Given the description of an element on the screen output the (x, y) to click on. 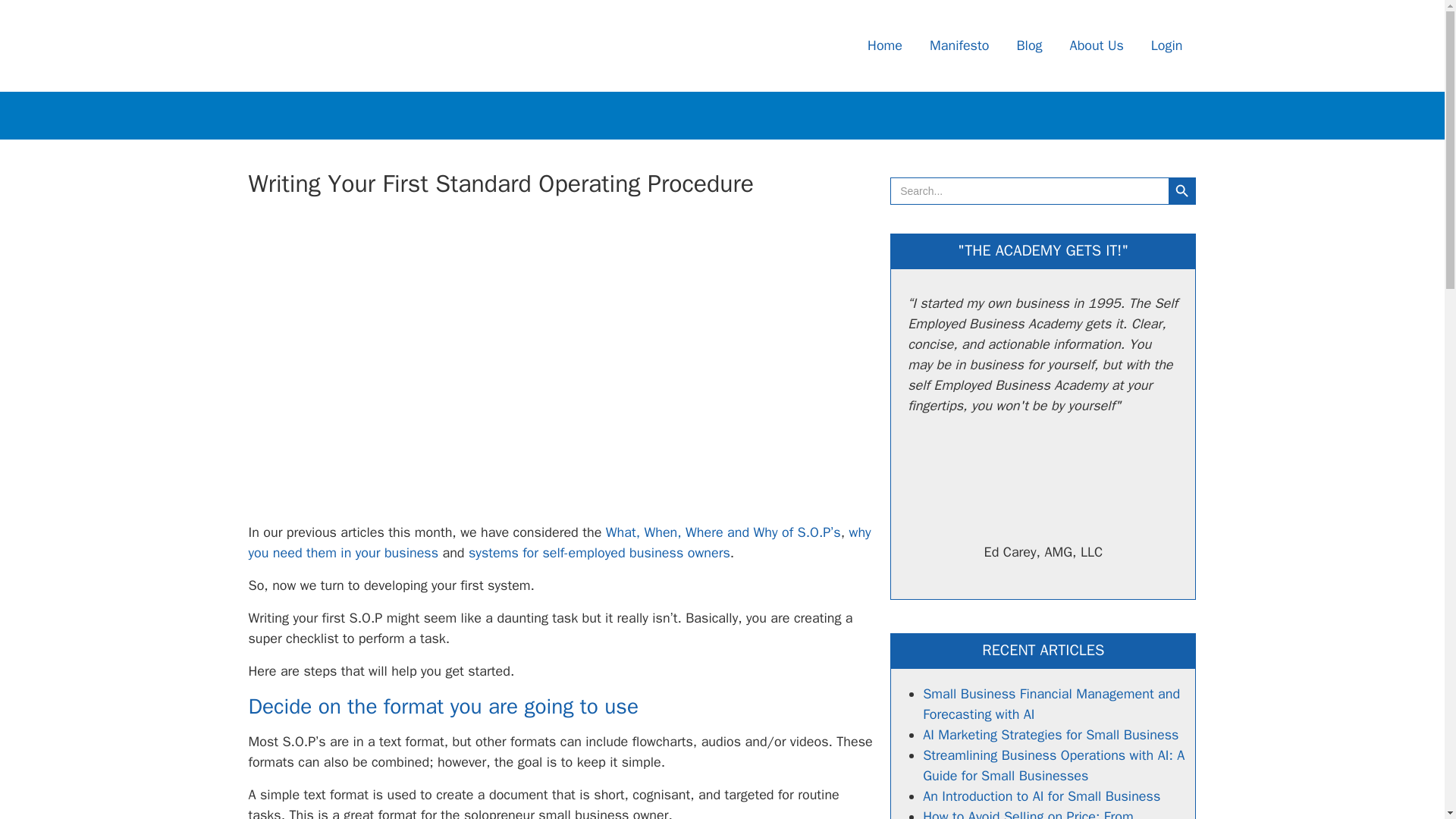
About Us (1096, 45)
why you need them in your business (559, 542)
Login (1166, 45)
Search Button (1182, 190)
An Introduction to AI for Small Business (1041, 795)
Home (884, 45)
Blog (1029, 45)
Manifesto (958, 45)
